Given the description of an element on the screen output the (x, y) to click on. 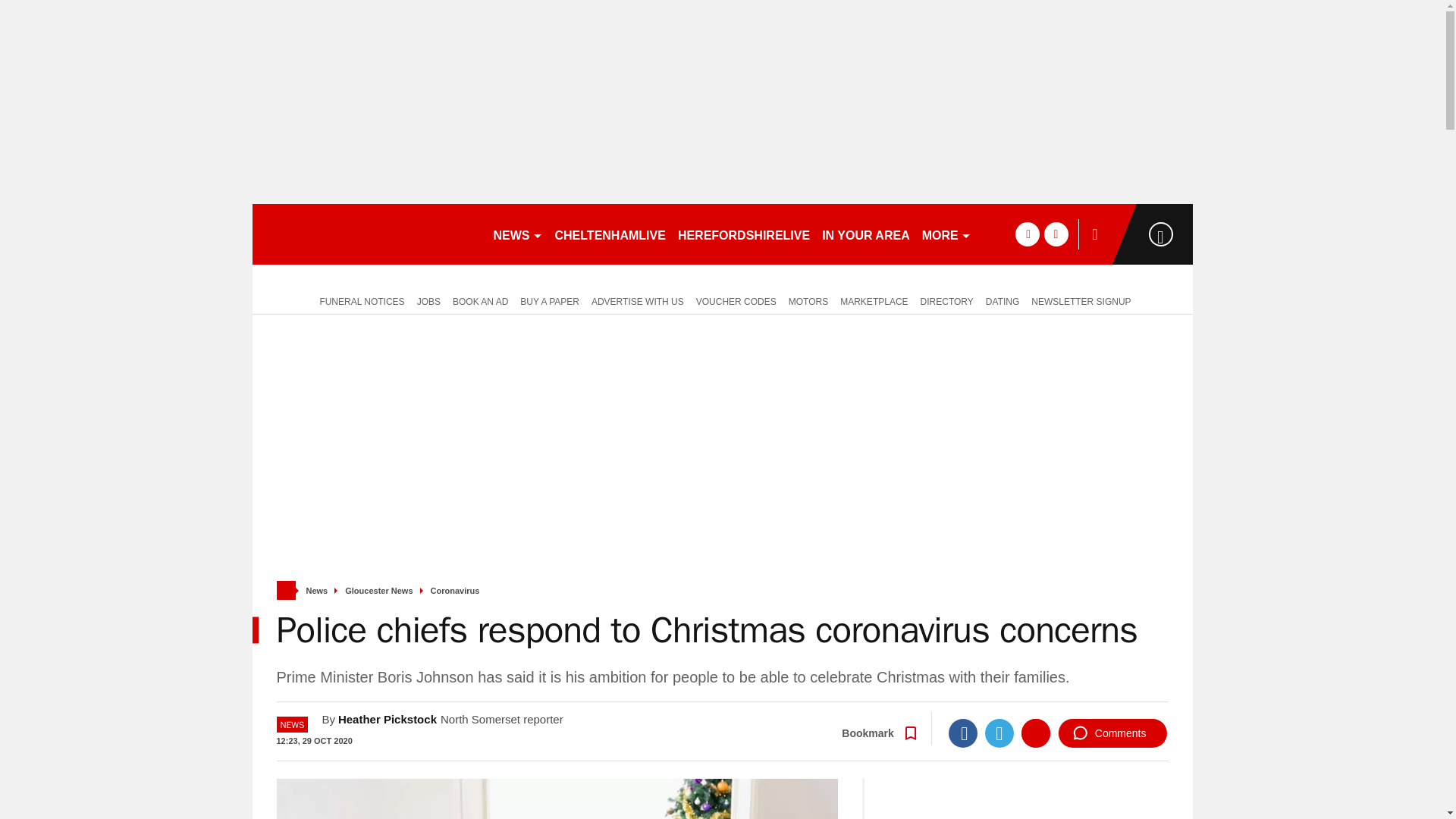
Facebook (962, 733)
IN YOUR AREA (865, 233)
HEREFORDSHIRELIVE (743, 233)
Twitter (999, 733)
Comments (1112, 733)
CHELTENHAMLIVE (609, 233)
gloucestershirelive (365, 233)
twitter (1055, 233)
facebook (1026, 233)
MORE (945, 233)
NEWS (517, 233)
